Given the description of an element on the screen output the (x, y) to click on. 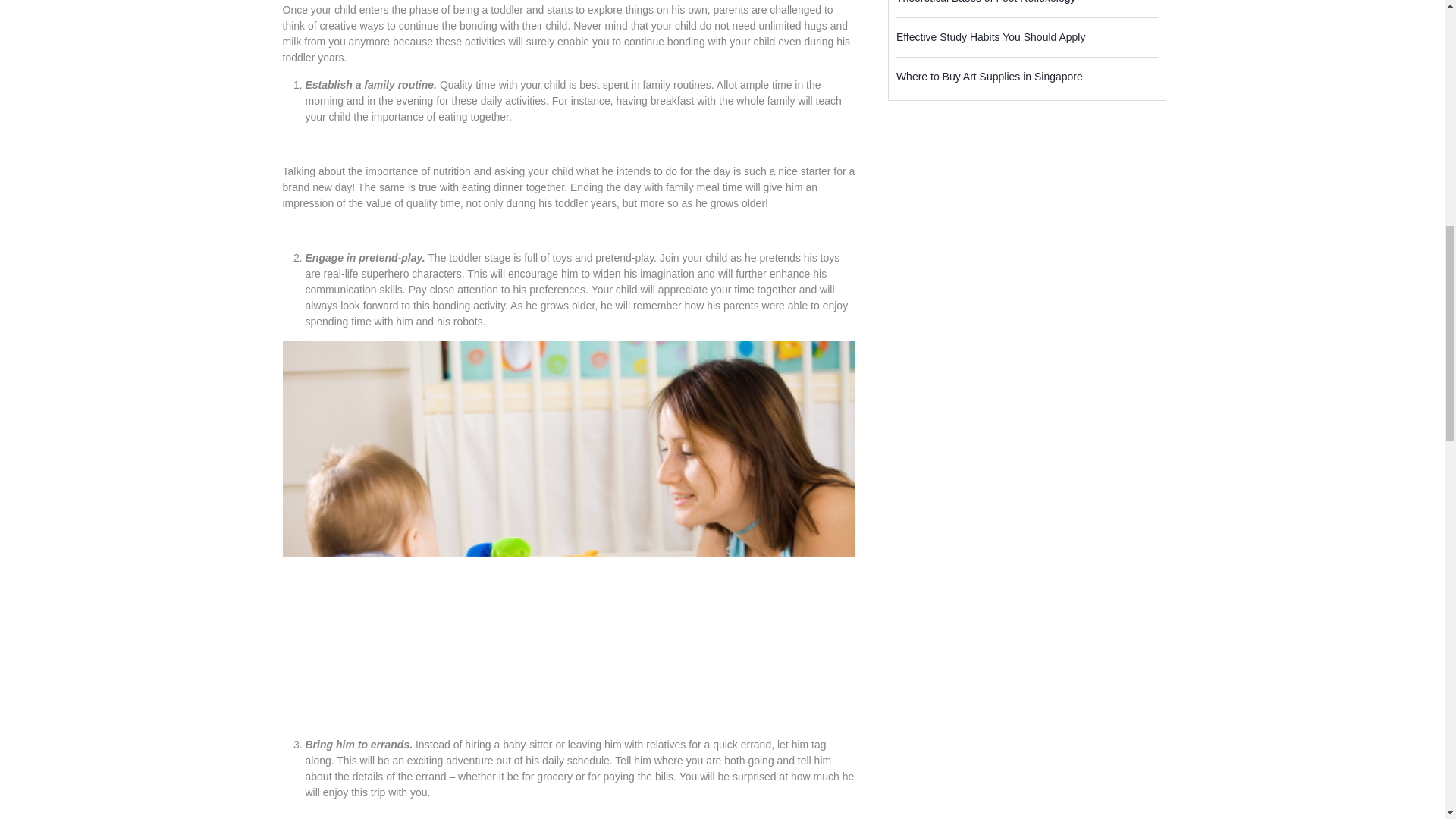
Theoretical Bases of Foot Reflexology (985, 1)
Where to Buy Art Supplies in Singapore (989, 75)
Effective Study Habits You Should Apply (991, 36)
